Given the description of an element on the screen output the (x, y) to click on. 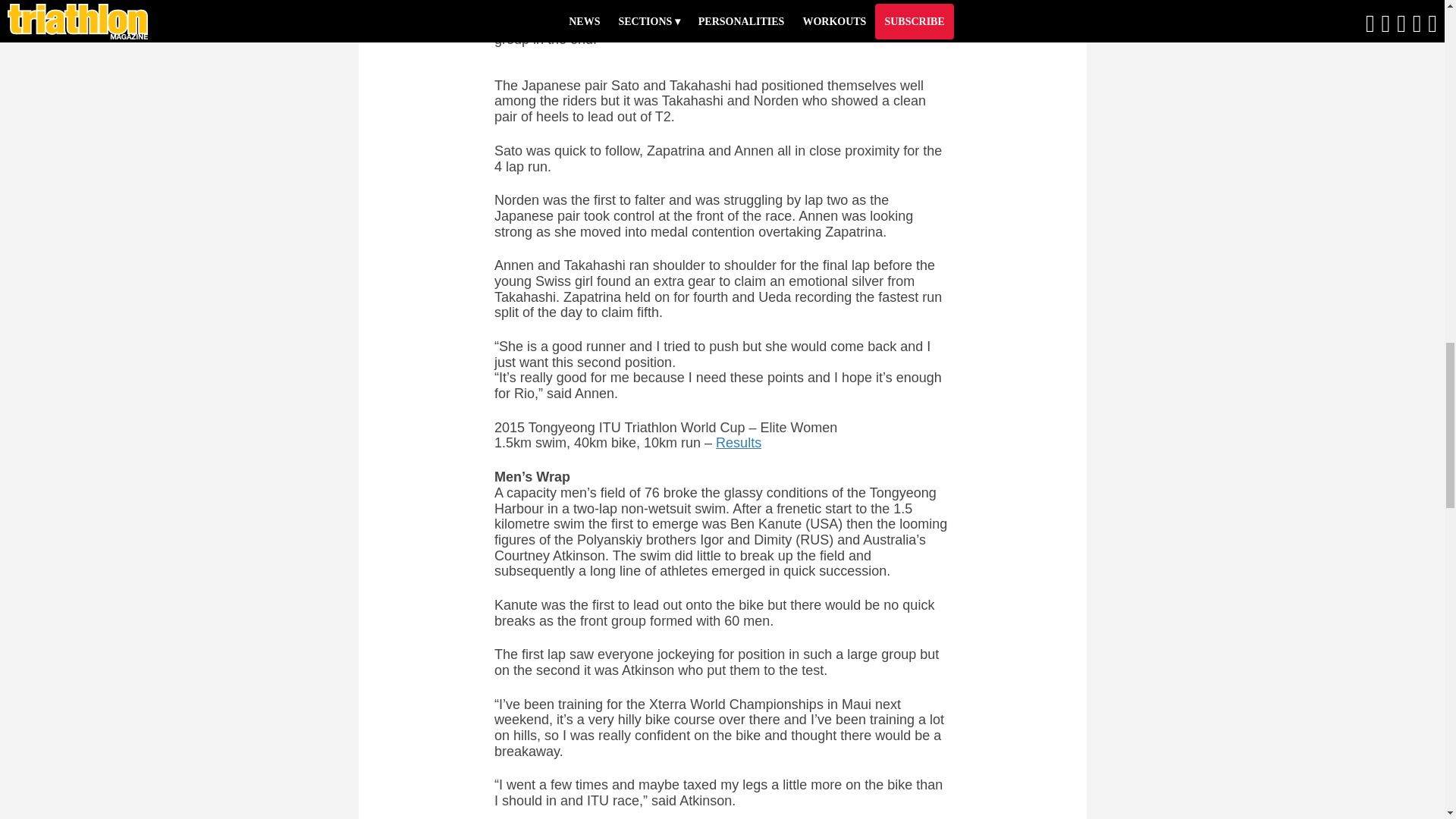
Results (738, 442)
